Given the description of an element on the screen output the (x, y) to click on. 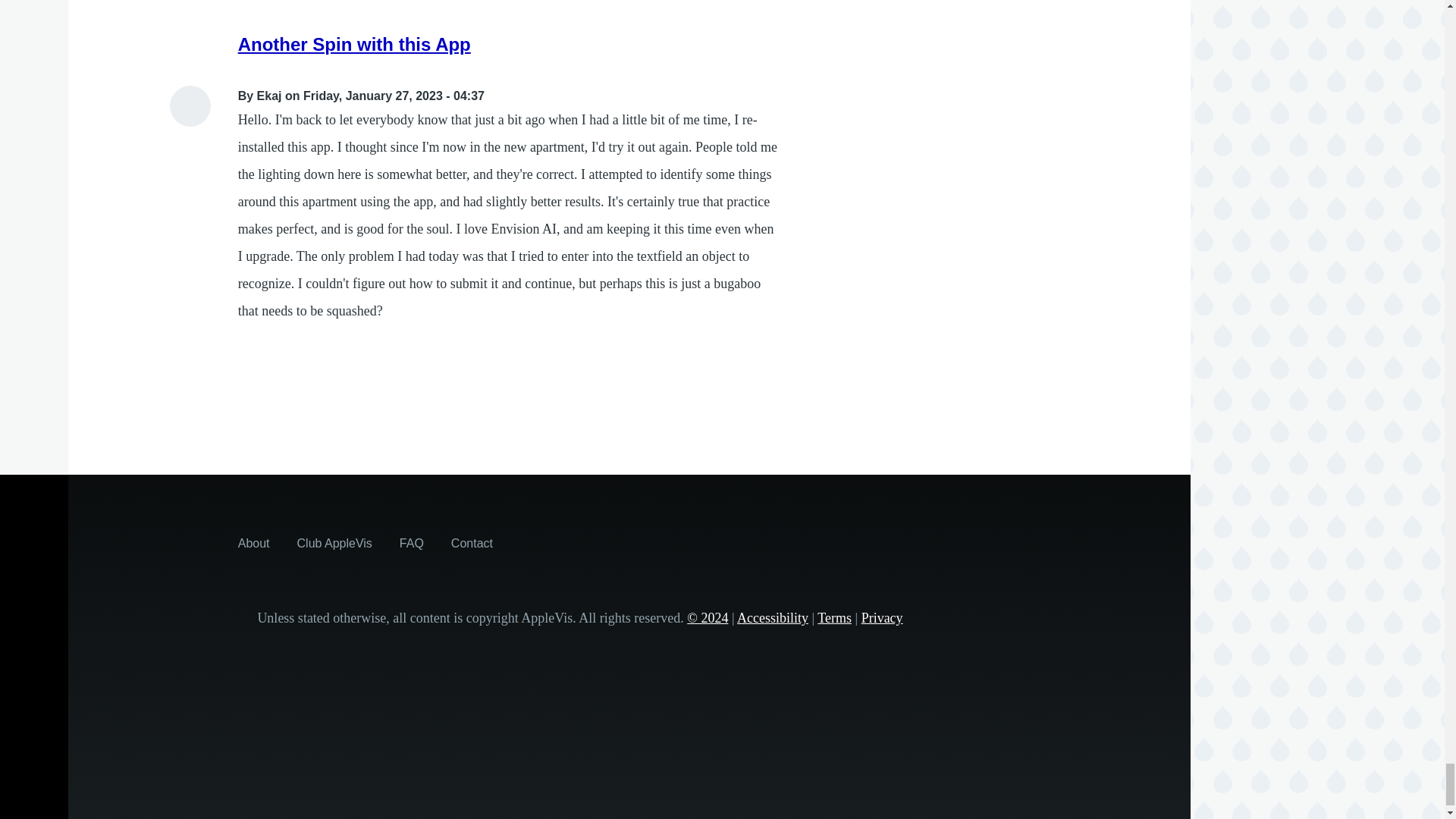
About (253, 542)
Answers to some frequently asked questions about AppleVis (410, 542)
